Given the description of an element on the screen output the (x, y) to click on. 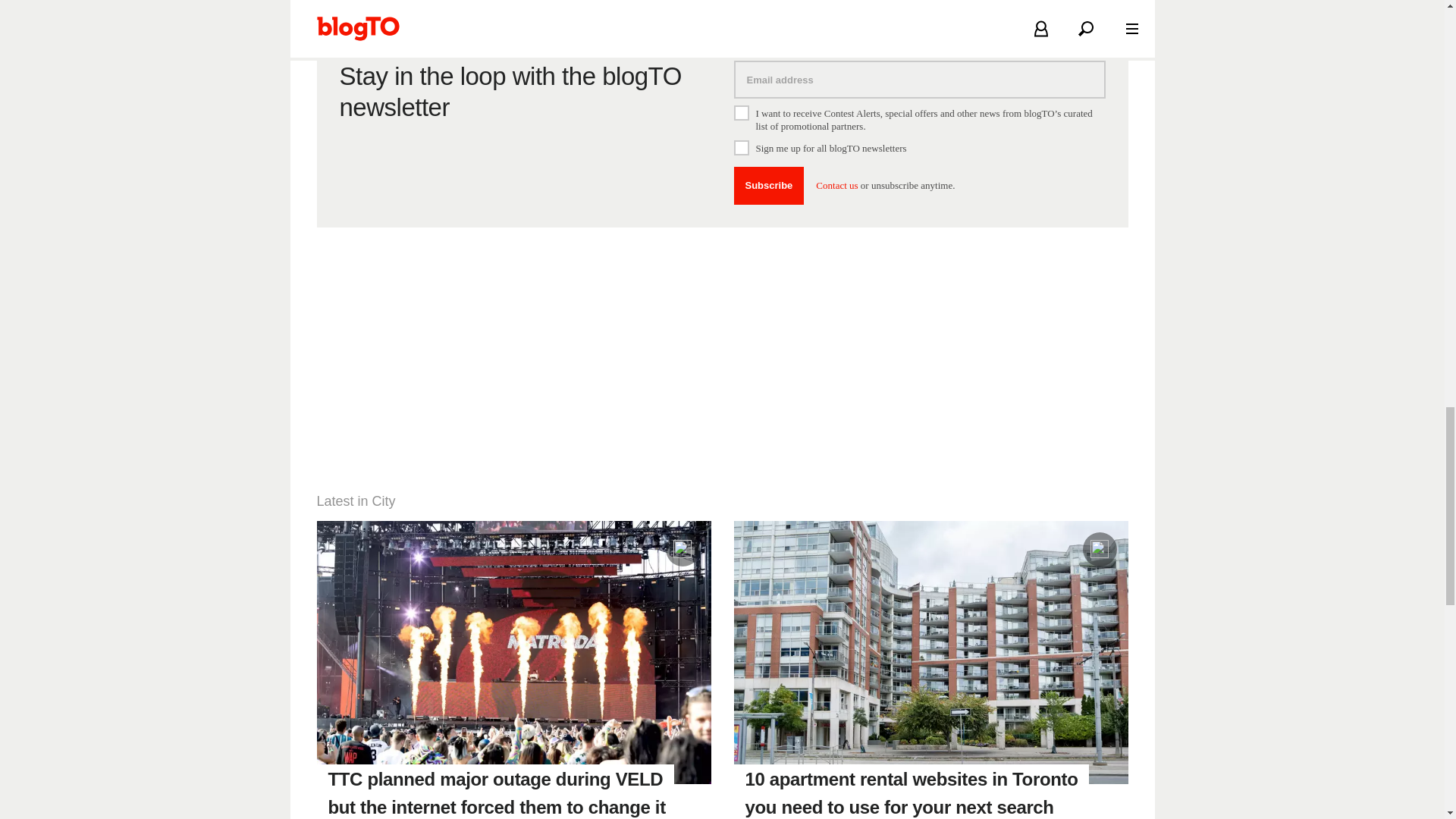
Subscribe (769, 185)
